Given the description of an element on the screen output the (x, y) to click on. 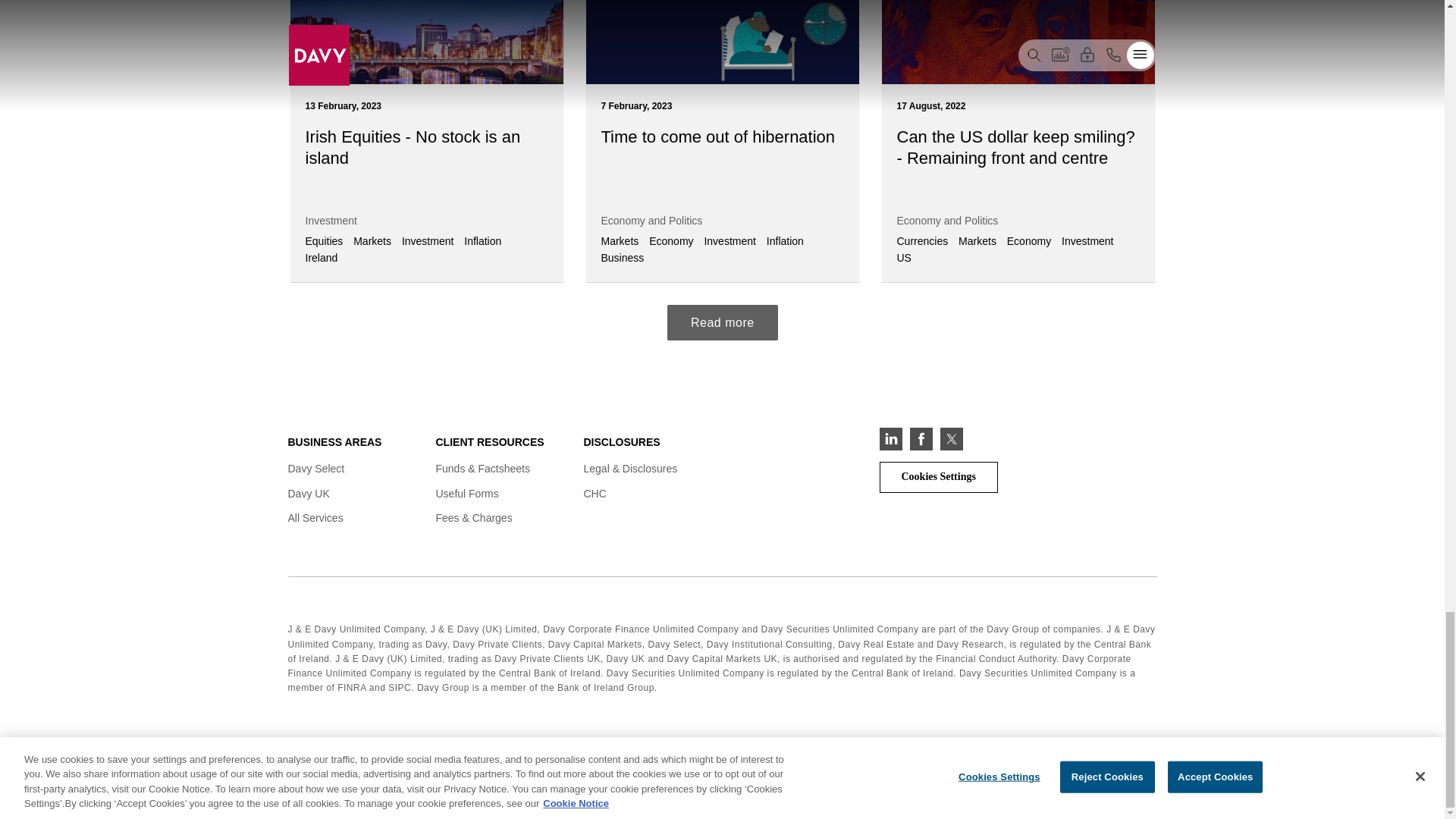
Signup to download the Outlook 2023 edition of MarketWatch. (721, 322)
Youtube (981, 438)
Linkedin (890, 438)
Facebook (921, 438)
Twitter (951, 438)
